Given the description of an element on the screen output the (x, y) to click on. 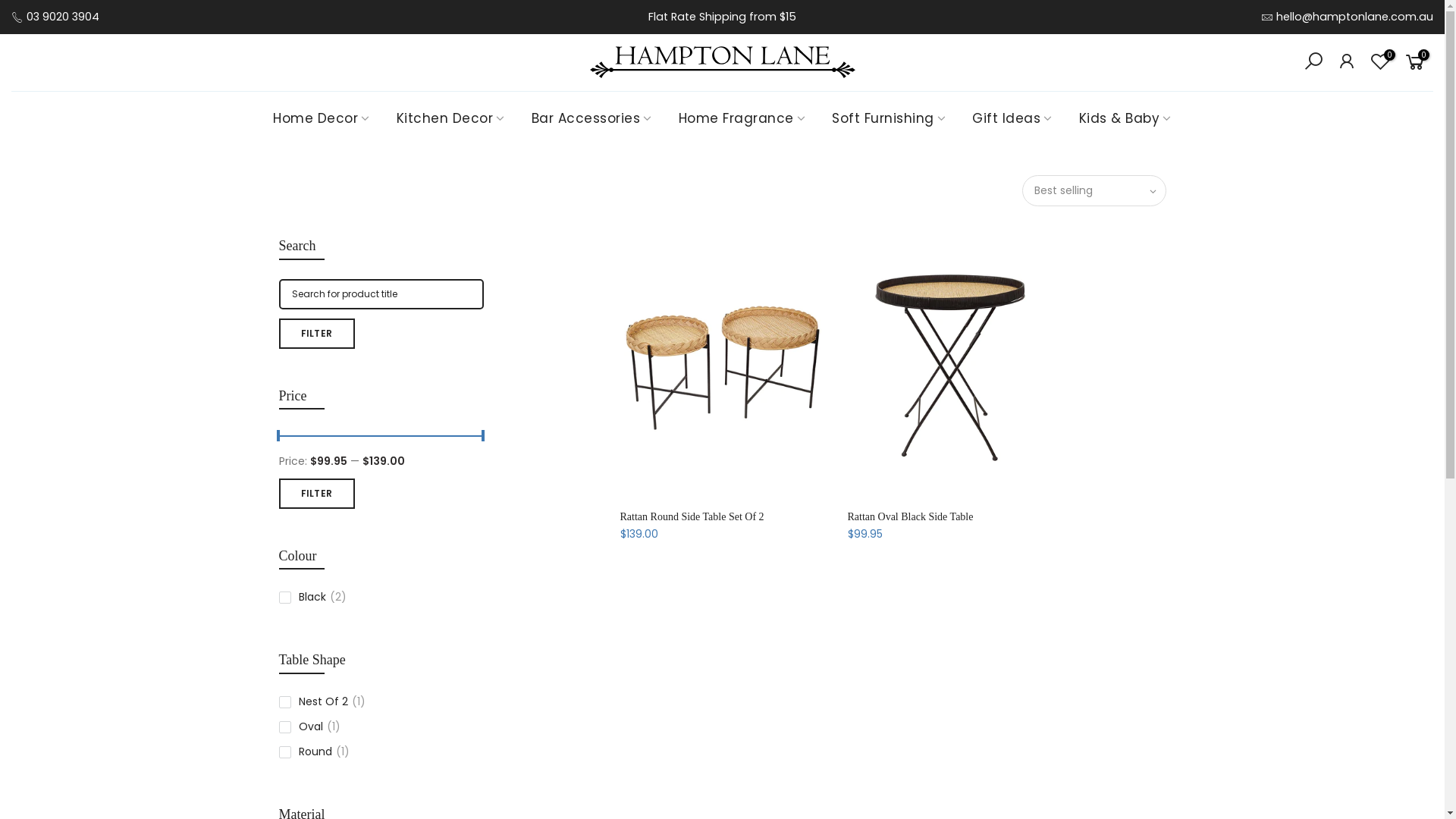
Round
(1) Element type: text (381, 751)
FILTER Element type: text (316, 493)
Rattan Round Side Table Set Of 2 Element type: text (692, 516)
Home Fragrance Element type: text (742, 117)
Rattan Oval Black Side Table Element type: text (910, 516)
0 Element type: text (1379, 62)
Best selling Element type: text (1094, 190)
Soft Furnishing Element type: text (889, 117)
hello@hamptonlane.com.au Element type: text (1354, 16)
Gift Ideas Element type: text (1012, 117)
0 Element type: text (1414, 62)
Black
(2) Element type: text (381, 596)
FILTER Element type: text (316, 333)
Bar Accessories Element type: text (591, 117)
Oval
(1) Element type: text (381, 726)
Home Decor Element type: text (321, 117)
Nest Of 2
(1) Element type: text (381, 701)
Kids & Baby Element type: text (1124, 117)
Sign In Element type: text (722, 253)
Kitchen Decor Element type: text (449, 117)
